Given the description of an element on the screen output the (x, y) to click on. 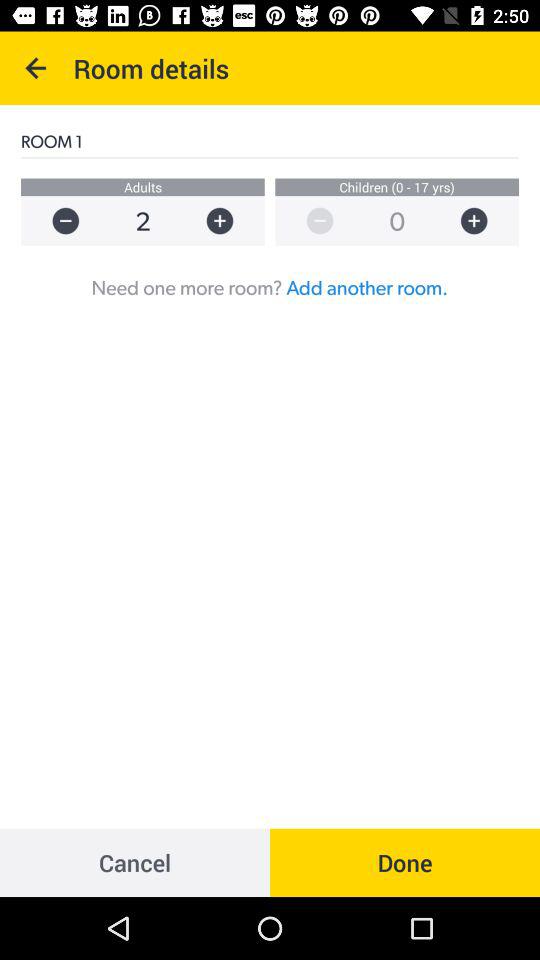
turn off the icon next to the cancel item (405, 862)
